Given the description of an element on the screen output the (x, y) to click on. 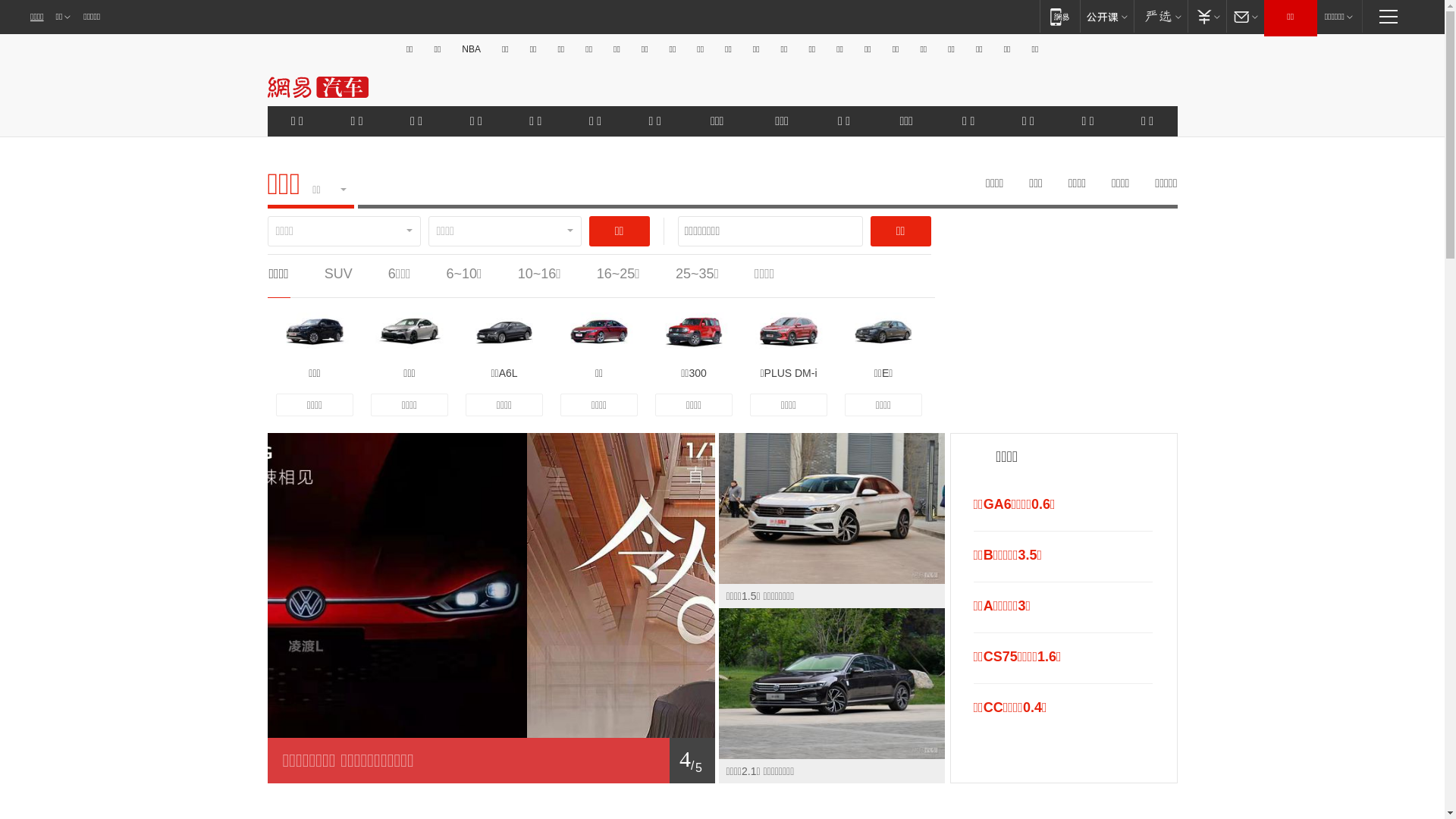
NBA Element type: text (471, 48)
1/ 5 Element type: text (490, 760)
SUV Element type: text (338, 273)
